Given the description of an element on the screen output the (x, y) to click on. 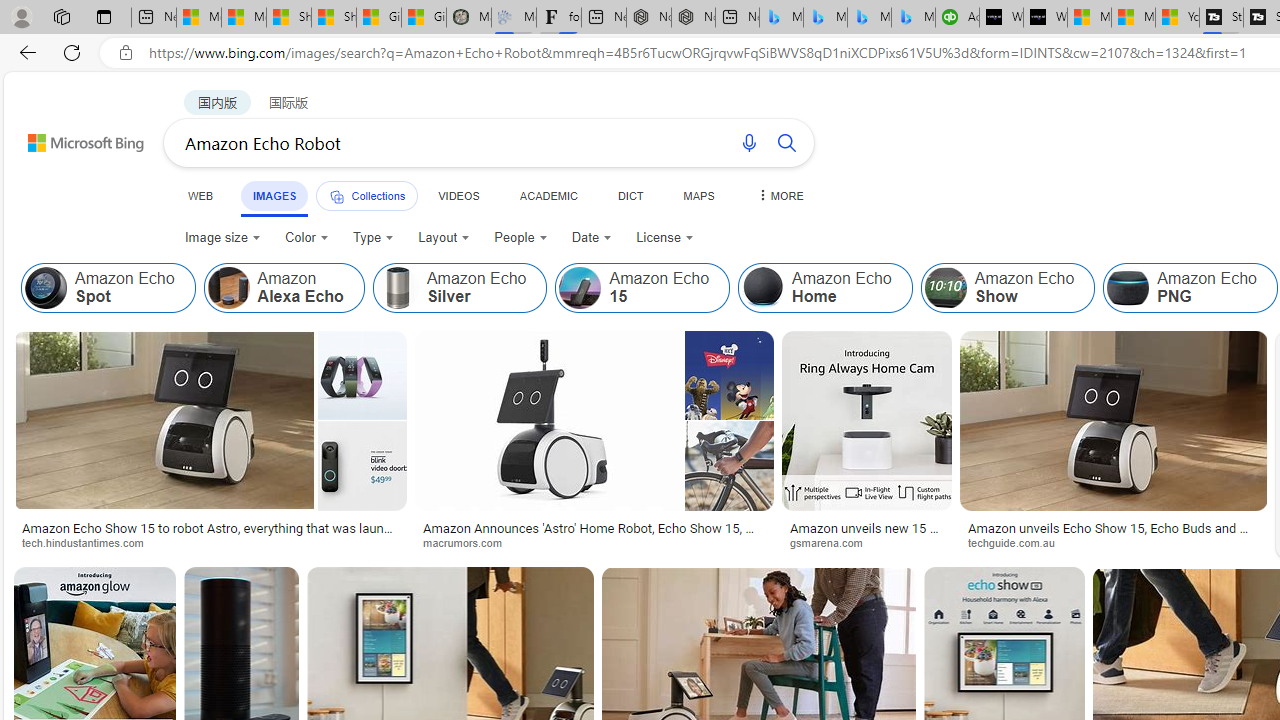
macrumors.com (593, 542)
Layout (443, 237)
DICT (630, 195)
gsmarena.com (866, 542)
Type (373, 237)
License (665, 237)
Image result for Amazon Echo Robot (1114, 421)
WEB (201, 195)
Date (591, 237)
Amazon Echo Silver (459, 287)
